Given the description of an element on the screen output the (x, y) to click on. 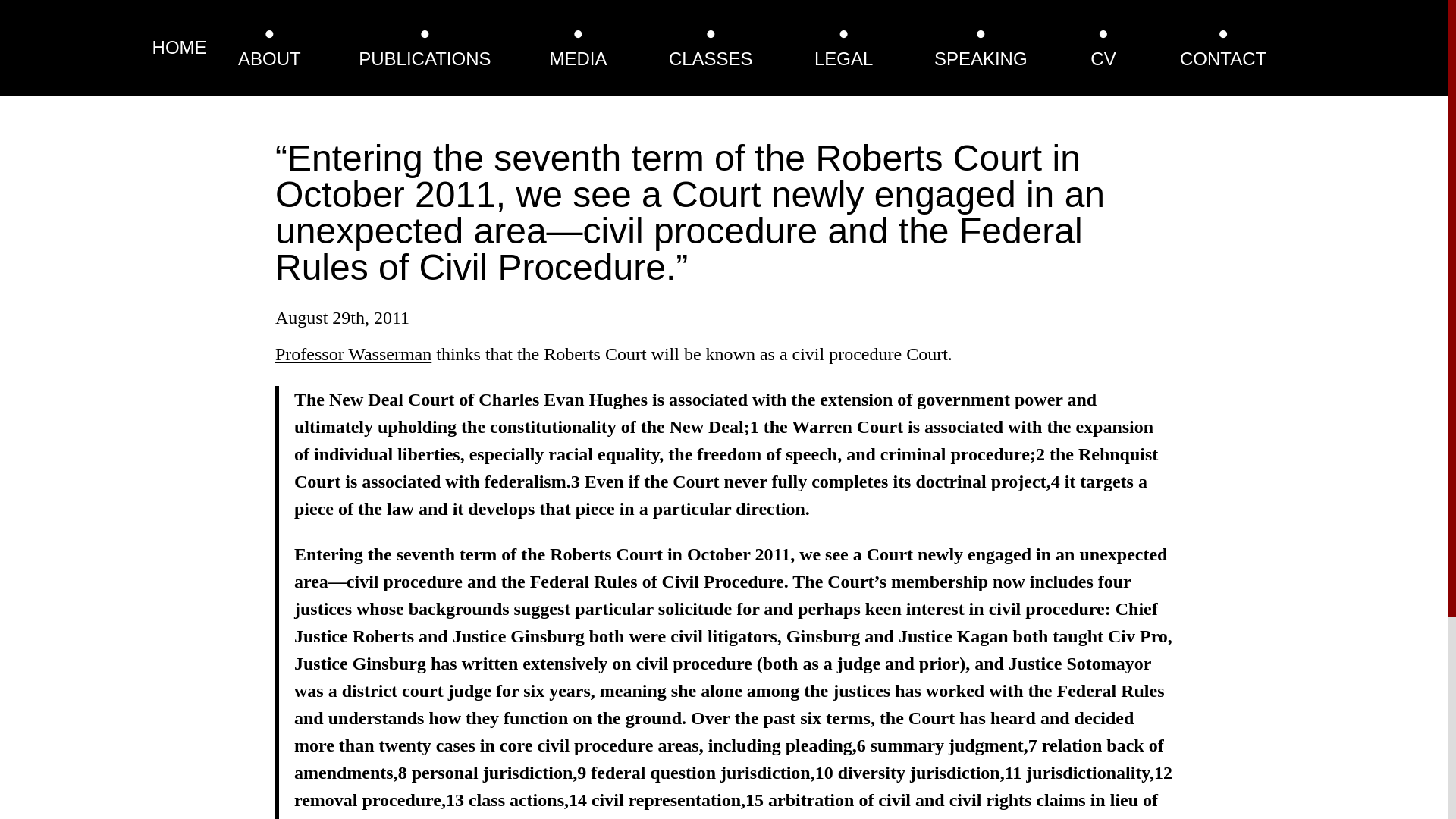
SPEAKING (980, 58)
MEDIA (577, 58)
ABOUT (269, 58)
CLASSES (710, 58)
CONTACT (1222, 58)
LEGAL (842, 58)
CV (1102, 58)
Professor Wasserman (352, 353)
PUBLICATIONS (424, 58)
HOME (179, 47)
